Given the description of an element on the screen output the (x, y) to click on. 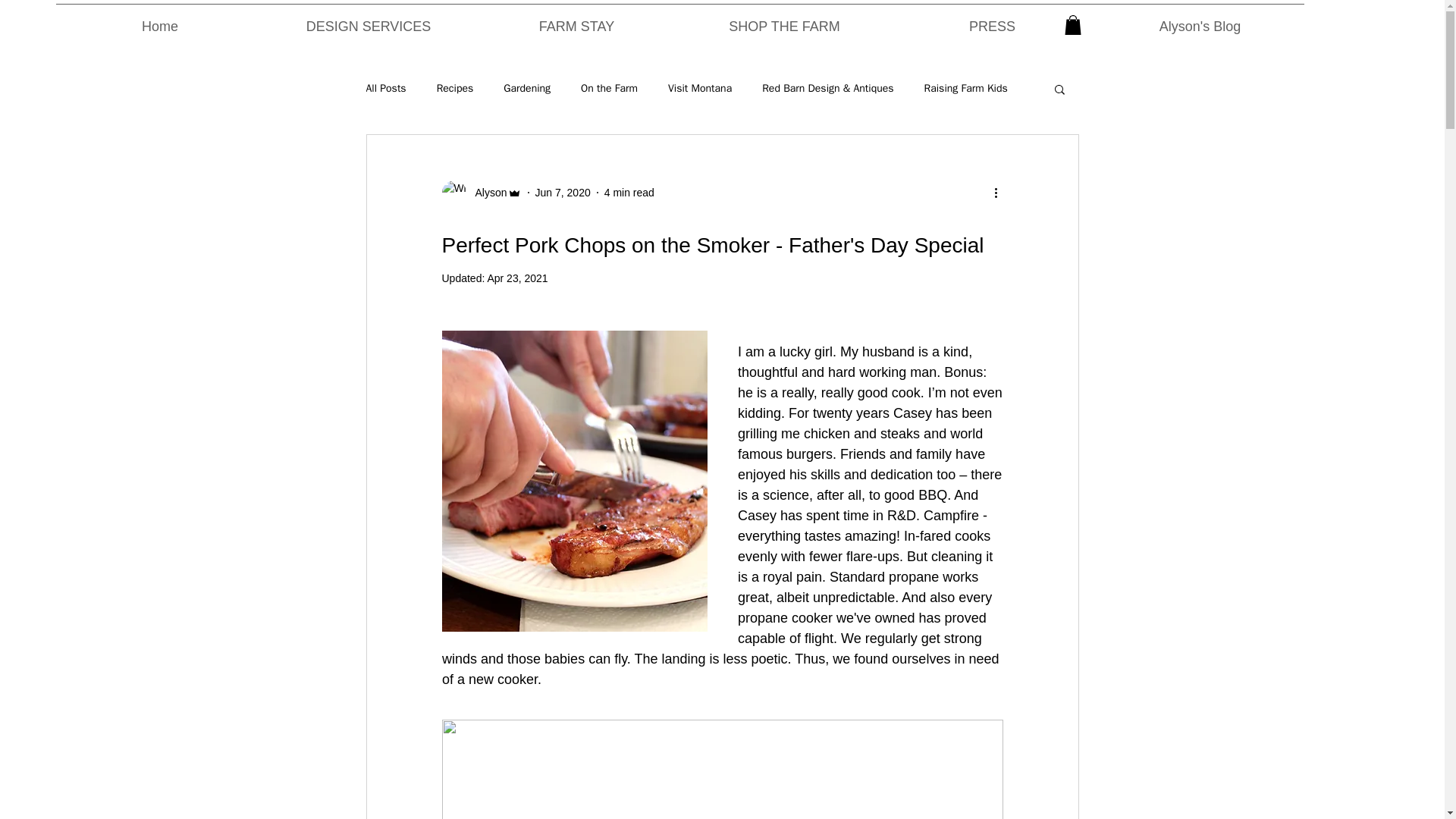
PRESS (992, 20)
Visit Montana (700, 88)
Apr 23, 2021 (516, 277)
4 min read (628, 192)
Alyson (481, 192)
Gardening (526, 88)
All Posts (385, 88)
Alyson's Blog (1200, 20)
Raising Farm Kids (965, 88)
DESIGN SERVICES (367, 20)
Home (160, 20)
SHOP THE FARM (784, 20)
Alyson  (485, 192)
FARM STAY (577, 20)
Recipes (455, 88)
